Given the description of an element on the screen output the (x, y) to click on. 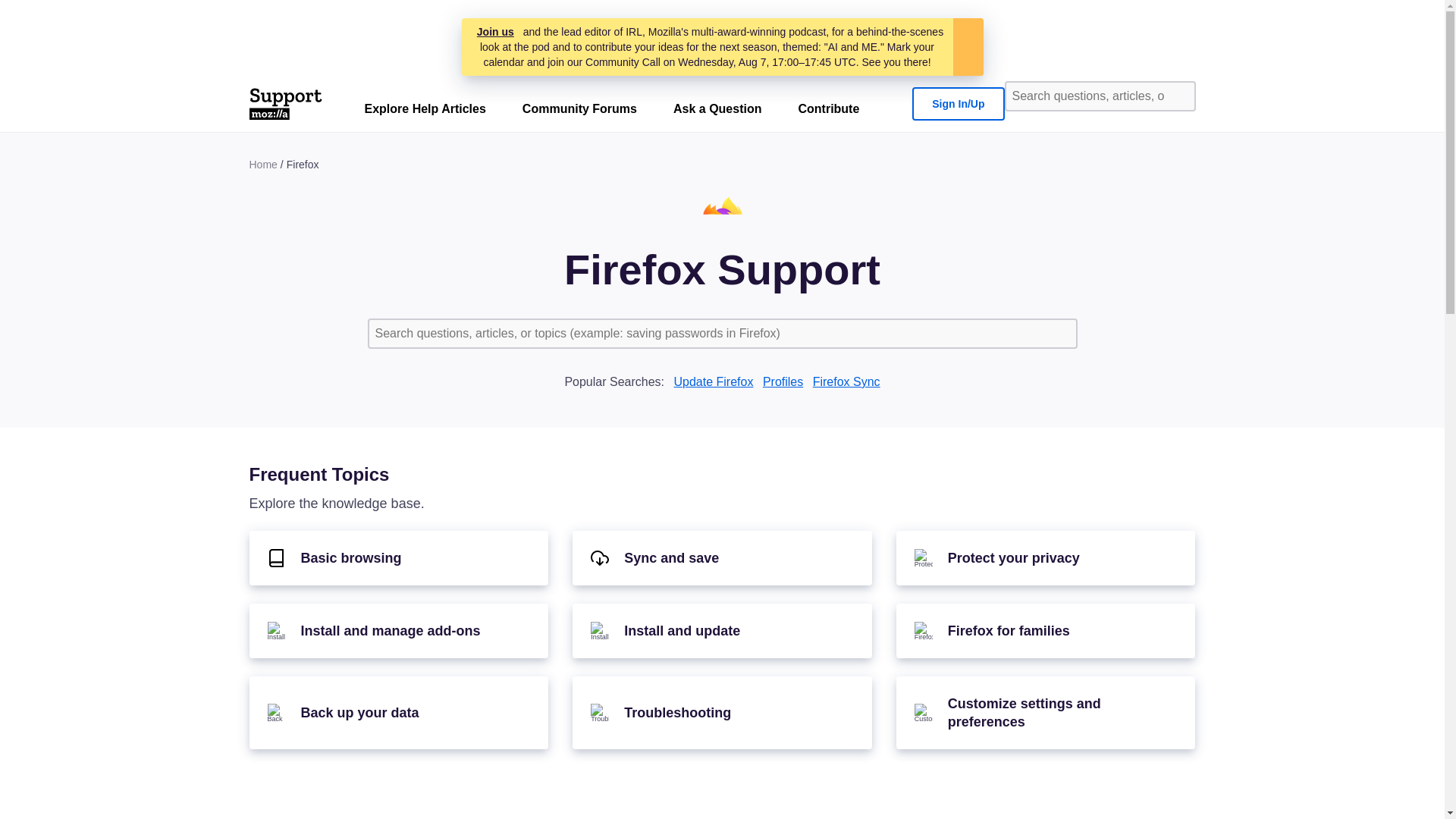
Join us (495, 31)
Explore Help Articles (424, 112)
Search (1178, 96)
Search (1059, 333)
Community Forums (579, 112)
Ask a Question (716, 112)
